Given the description of an element on the screen output the (x, y) to click on. 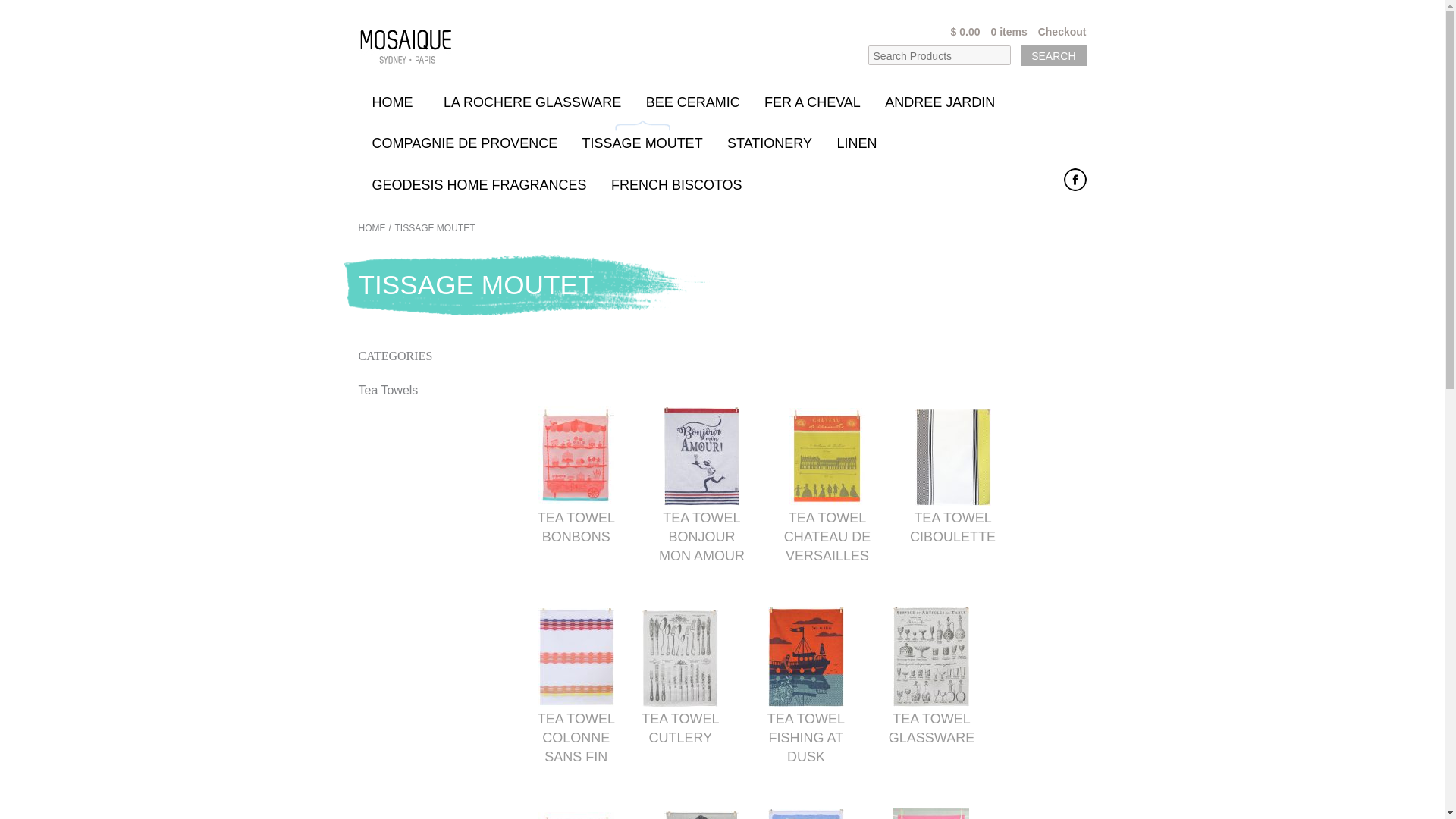
HOME Element type: text (395, 98)
LA ROCHERE GLASSWARE Element type: text (531, 98)
HOME Element type: text (371, 227)
ANDREE JARDIN Element type: text (939, 98)
Search Element type: text (1052, 55)
TISSAGE MOUTET Element type: text (434, 227)
TISSAGE MOUTET Element type: text (642, 139)
$ 0.000 items Element type: text (967, 34)
GEODESIS HOME FRAGRANCES Element type: text (479, 181)
BEE CERAMIC Element type: text (692, 98)
Tea Towels Element type: text (390, 389)
COMPAGNIE DE PROVENCE Element type: text (464, 139)
FER A CHEVAL Element type: text (812, 98)
LINEN Element type: text (859, 139)
Mosaique Element type: text (404, 46)
FRENCH BISCOTOS Element type: text (676, 181)
STATIONERY Element type: text (769, 139)
Checkout Element type: text (1056, 34)
